Given the description of an element on the screen output the (x, y) to click on. 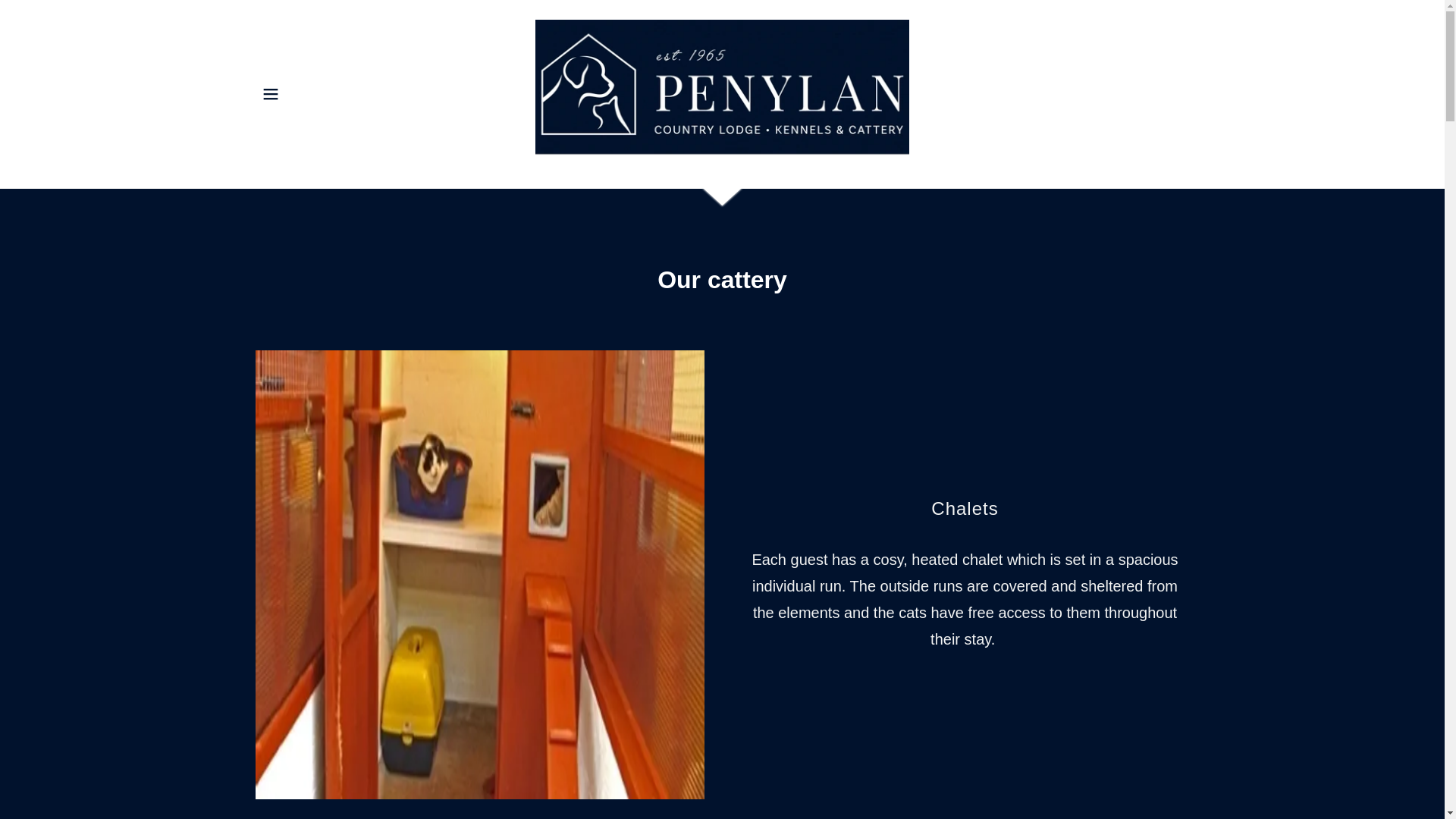
penylan country lodge (721, 92)
